Given the description of an element on the screen output the (x, y) to click on. 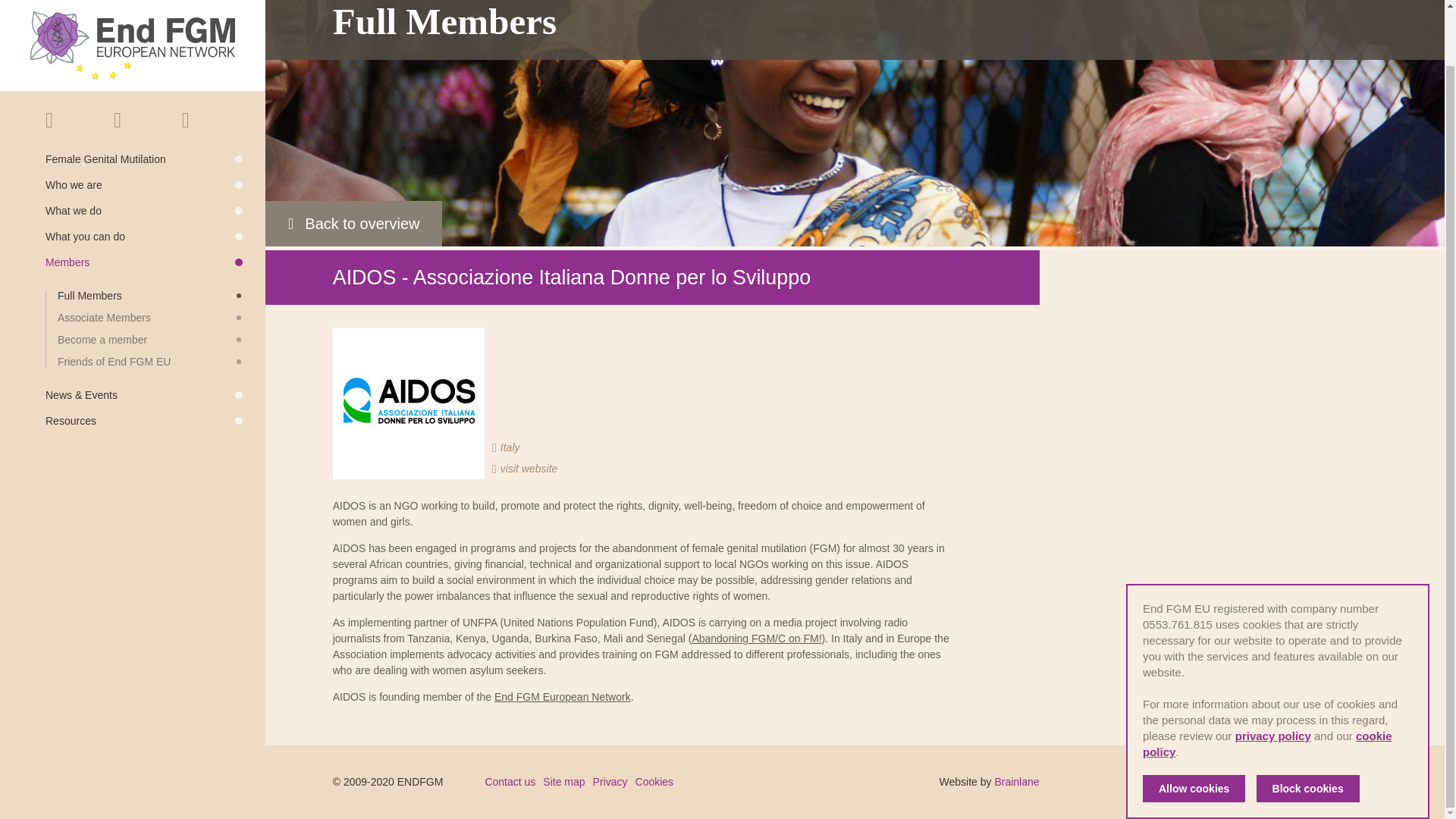
Female Genital Mutilation (144, 98)
Sitemap (165, 59)
Contact (117, 59)
Who we are (144, 123)
Home (69, 59)
Female Genital Mutilation (144, 98)
Who we are (144, 123)
What you can do (144, 175)
End FGM (132, 15)
Members (144, 201)
What we do (144, 149)
Friends of End FGM EU (150, 300)
Become a member (150, 278)
Full Members (150, 235)
End Female Genital Mutilation (132, 9)
